Given the description of an element on the screen output the (x, y) to click on. 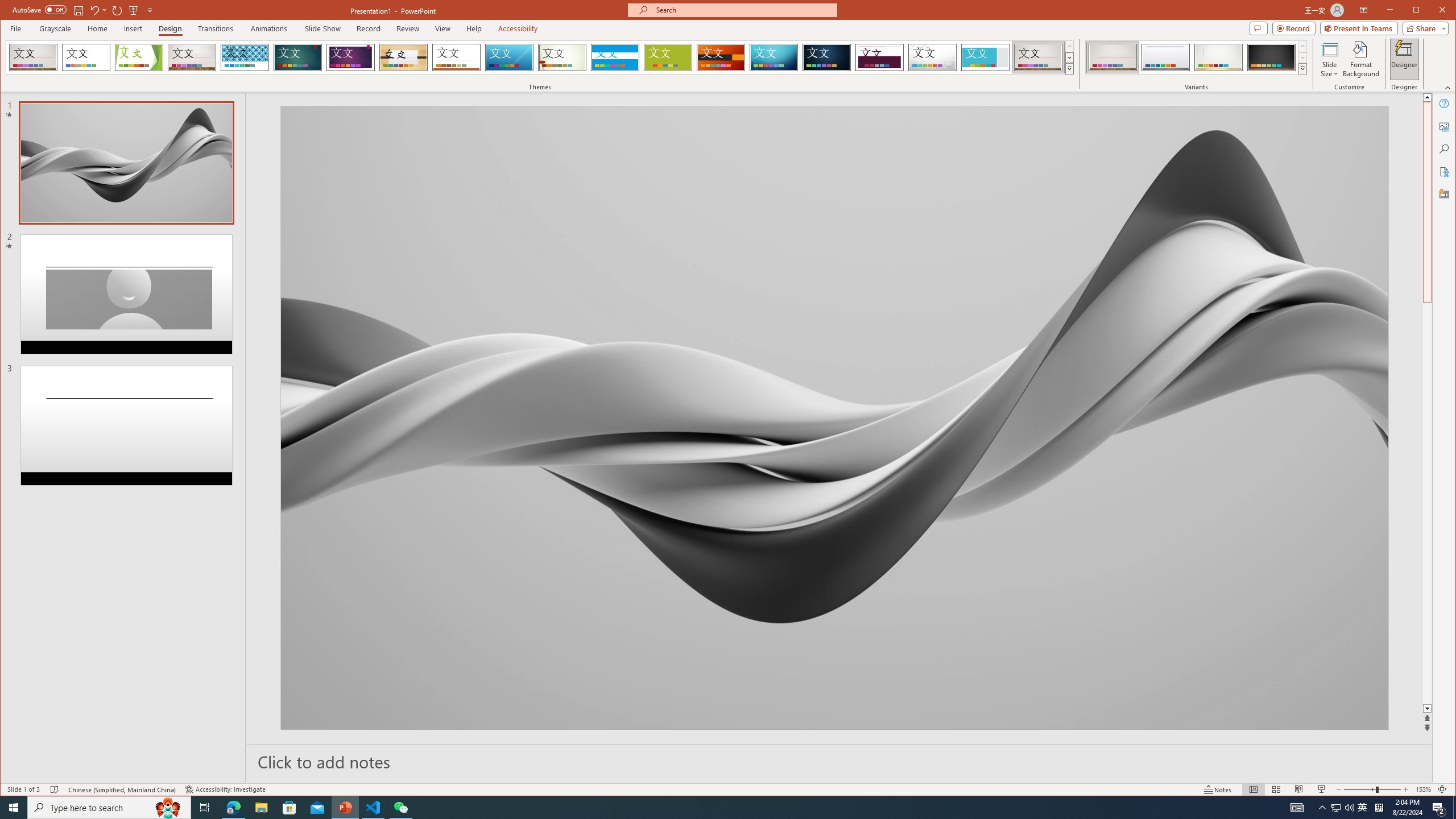
Berlin (720, 57)
Variants (1302, 68)
Integral (244, 57)
Organic (403, 57)
